Given the description of an element on the screen output the (x, y) to click on. 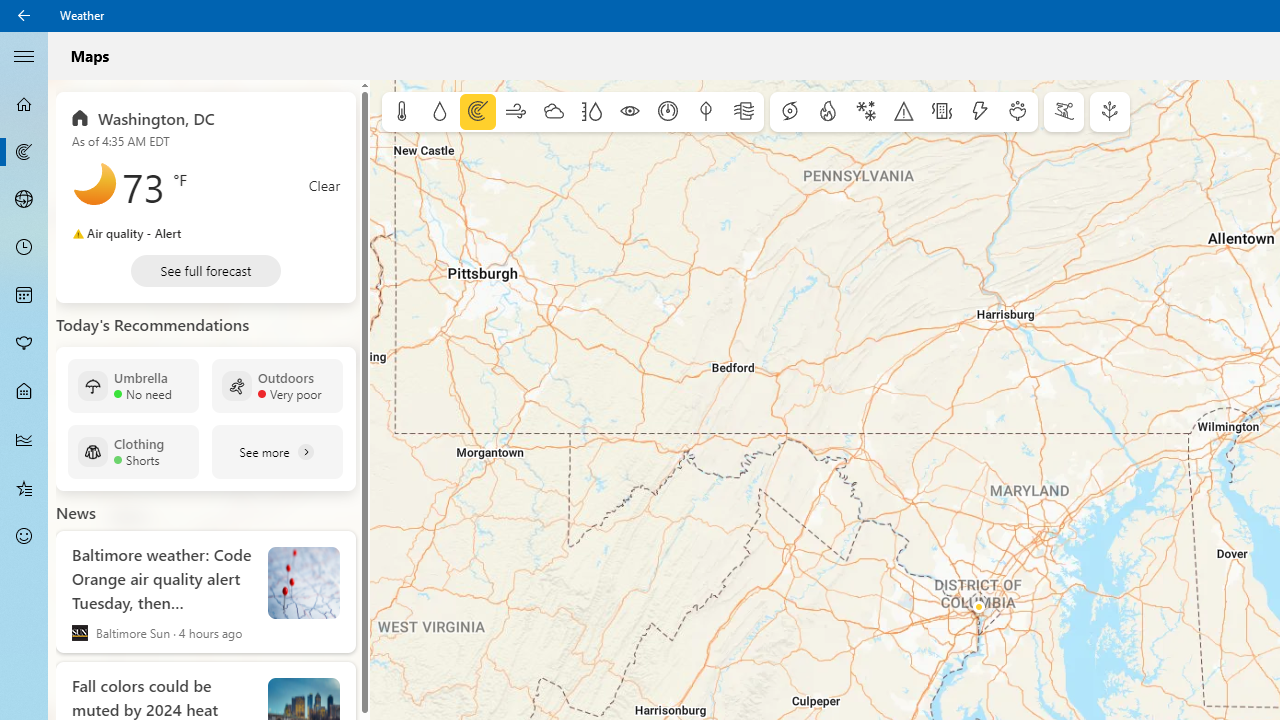
Maps - Not Selected (24, 151)
3D Maps - Not Selected (24, 199)
Pollen - Not Selected (24, 343)
Historical Weather - Not Selected (24, 439)
Favorites - Not Selected (24, 487)
Historical Weather - Not Selected (24, 439)
Monthly Forecast - Not Selected (24, 295)
